Given the description of an element on the screen output the (x, y) to click on. 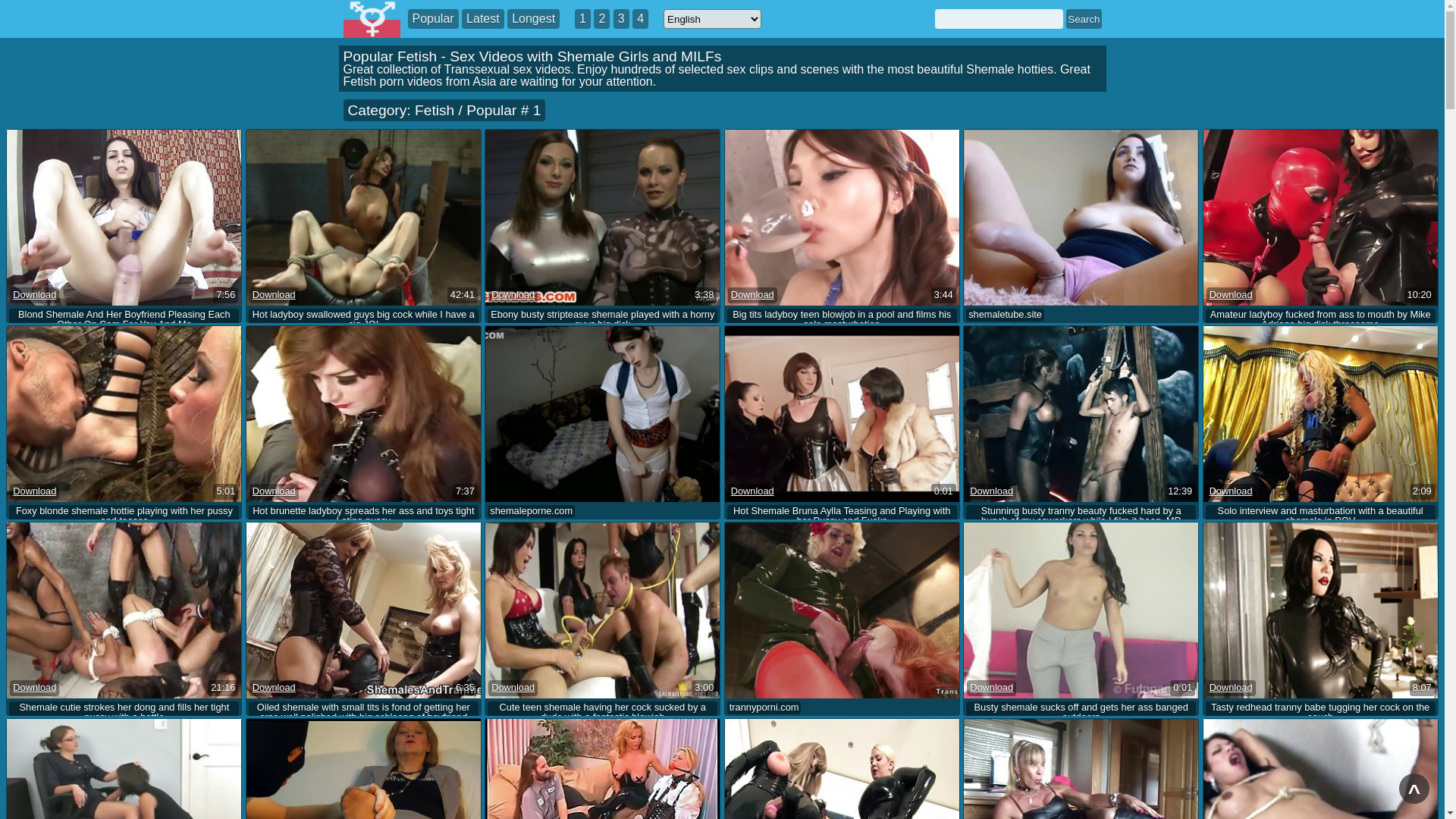
Search Element type: text (1083, 18)
Download Element type: text (273, 491)
Longest Element type: text (533, 18)
shemaleporne.com Element type: text (530, 511)
Popular Element type: text (432, 18)
Download Element type: text (752, 295)
trannyporni.com Element type: text (764, 707)
Popular Latest Longest Element type: text (483, 18)
^ Element type: text (1414, 788)
Download Element type: text (512, 688)
Download Element type: text (1230, 491)
Download Element type: text (991, 688)
3 Element type: text (621, 18)
Download Element type: text (273, 688)
Download Element type: text (752, 491)
Download Element type: text (991, 491)
Download Element type: text (34, 295)
2 Element type: text (601, 18)
Latest Element type: text (482, 18)
shemaletube.site Element type: text (1005, 314)
Download Element type: text (512, 295)
Download Element type: text (1230, 295)
Download Element type: text (1230, 688)
4 Element type: text (640, 18)
Download Element type: text (34, 491)
1 Element type: text (582, 18)
Download Element type: text (34, 688)
Download Element type: text (273, 295)
